Given the description of an element on the screen output the (x, y) to click on. 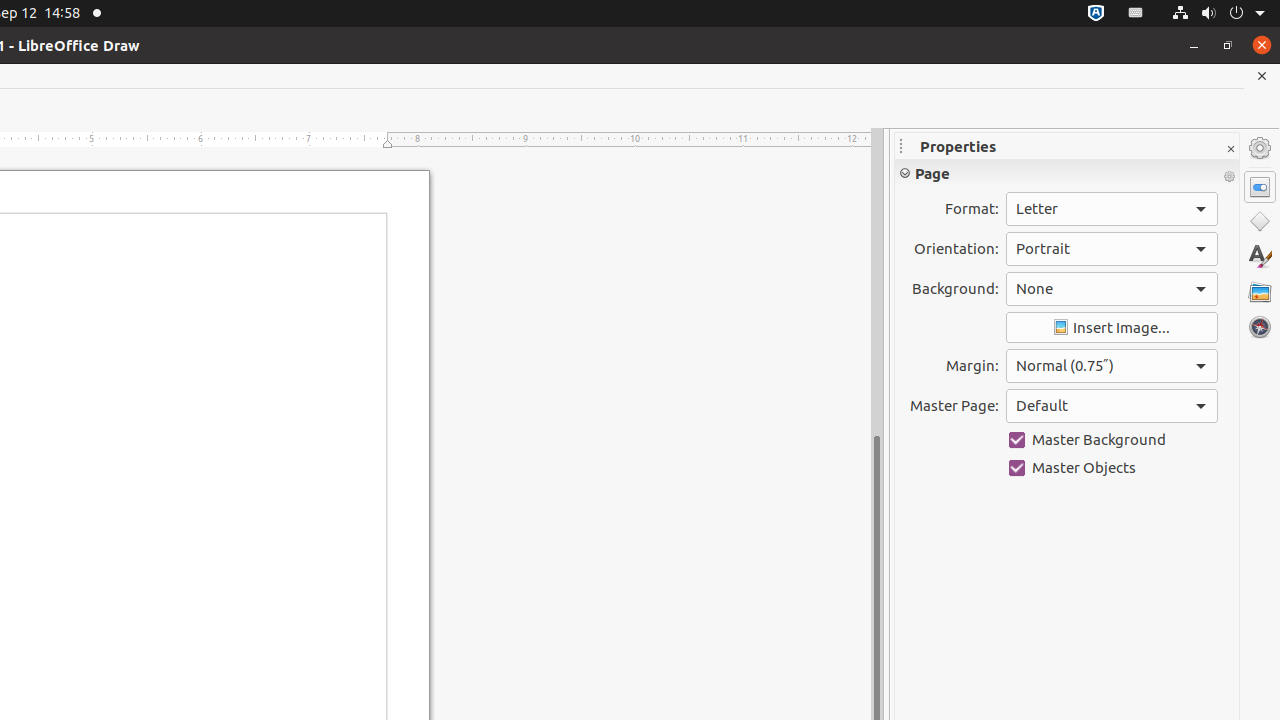
Styles Element type: radio-button (1260, 256)
More Options Element type: push-button (1229, 177)
